Given the description of an element on the screen output the (x, y) to click on. 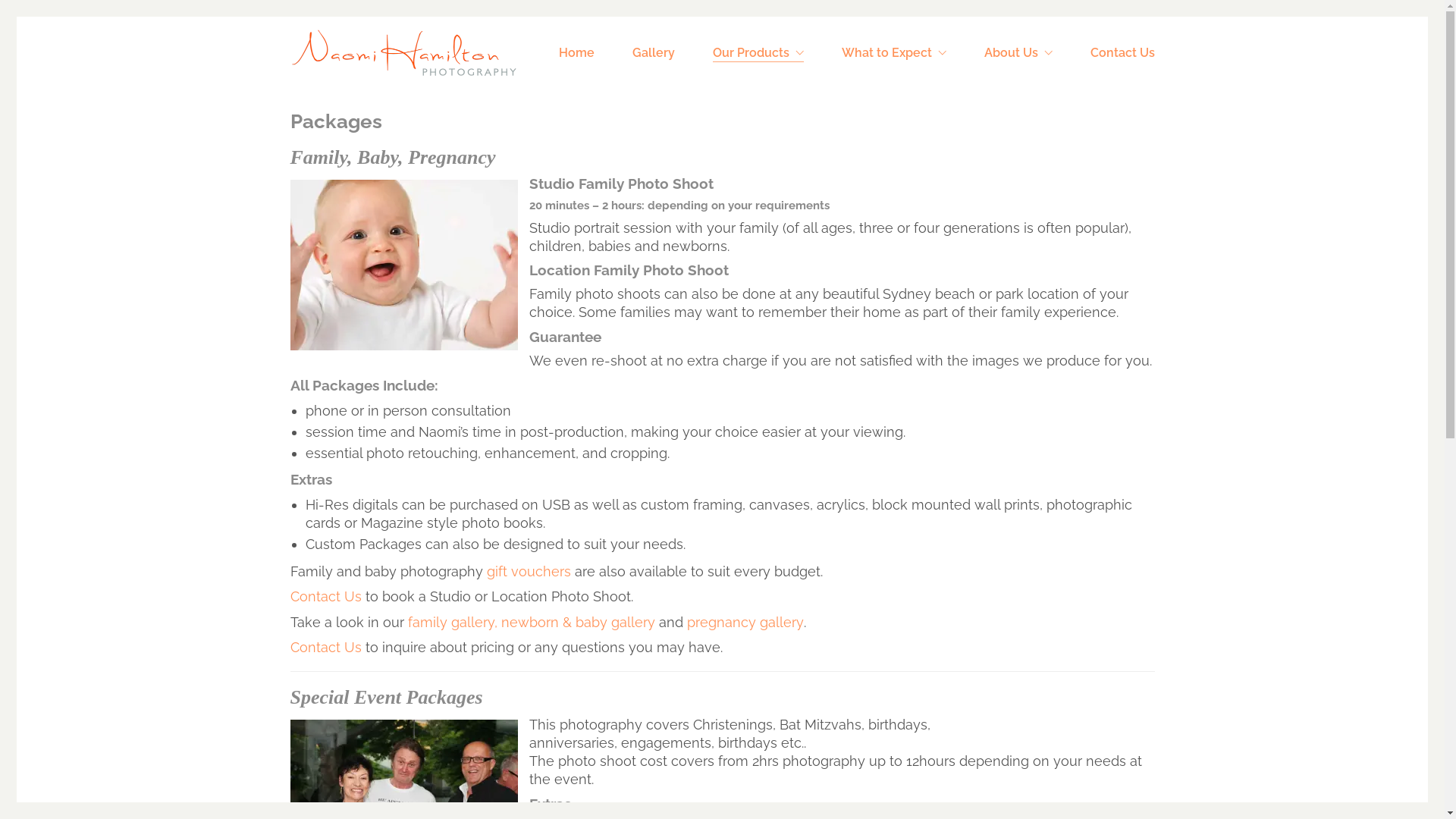
gift vouchers Element type: text (528, 571)
newborn & baby gallery Element type: text (577, 622)
Contact Us Element type: text (324, 596)
family gallery, Element type: text (452, 622)
Our Products Element type: text (757, 52)
Contact Us Element type: text (1122, 52)
Gallery Element type: text (653, 52)
pregnancy gallery Element type: text (745, 622)
Home Element type: text (575, 52)
What to Expect Element type: text (893, 52)
About Us Element type: text (1018, 52)
Contact Us Element type: text (324, 647)
